Given the description of an element on the screen output the (x, y) to click on. 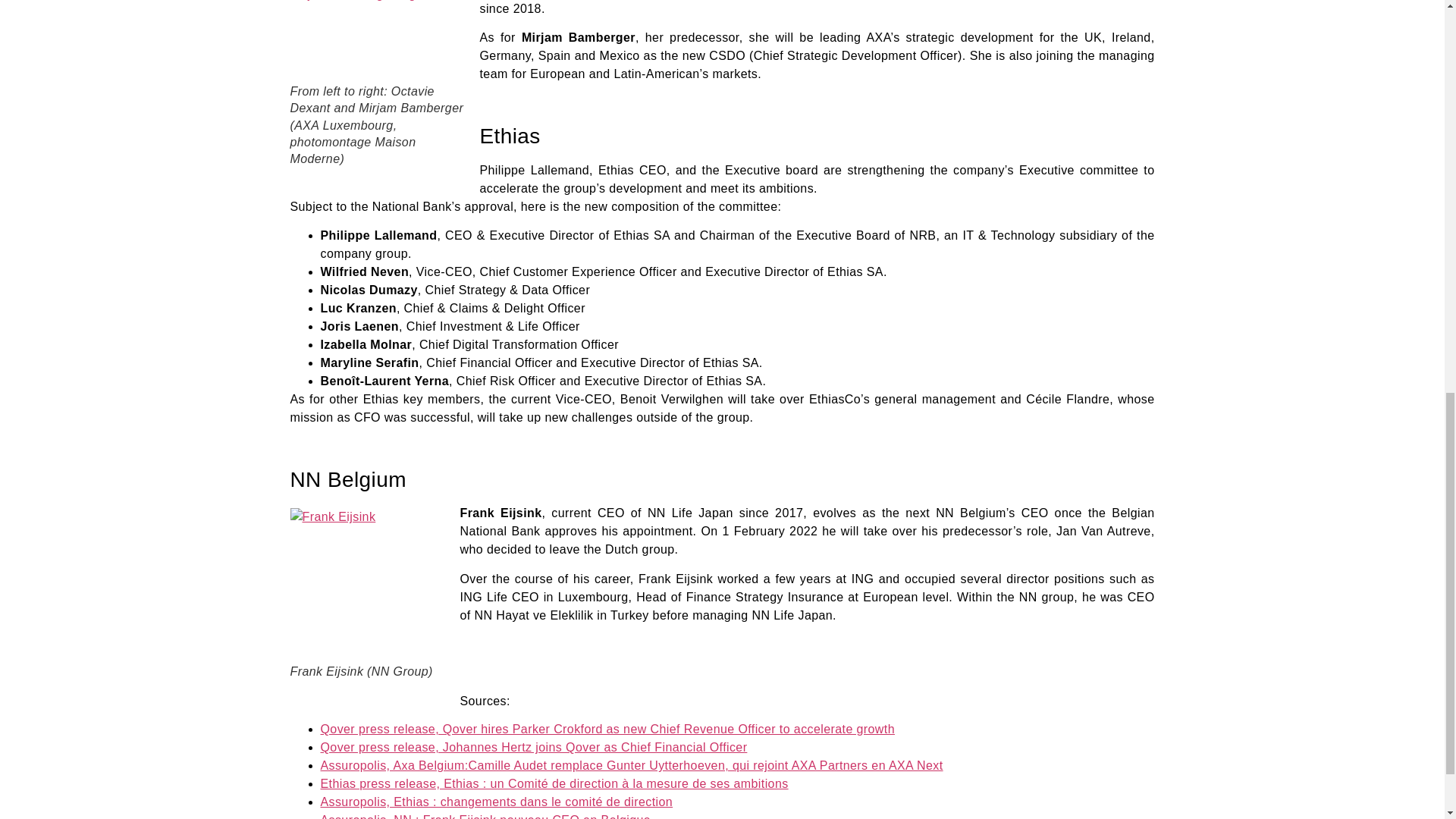
Assuropolis, NN : Frank Eijsink nouveau CEO en Belgique (485, 816)
